Given the description of an element on the screen output the (x, y) to click on. 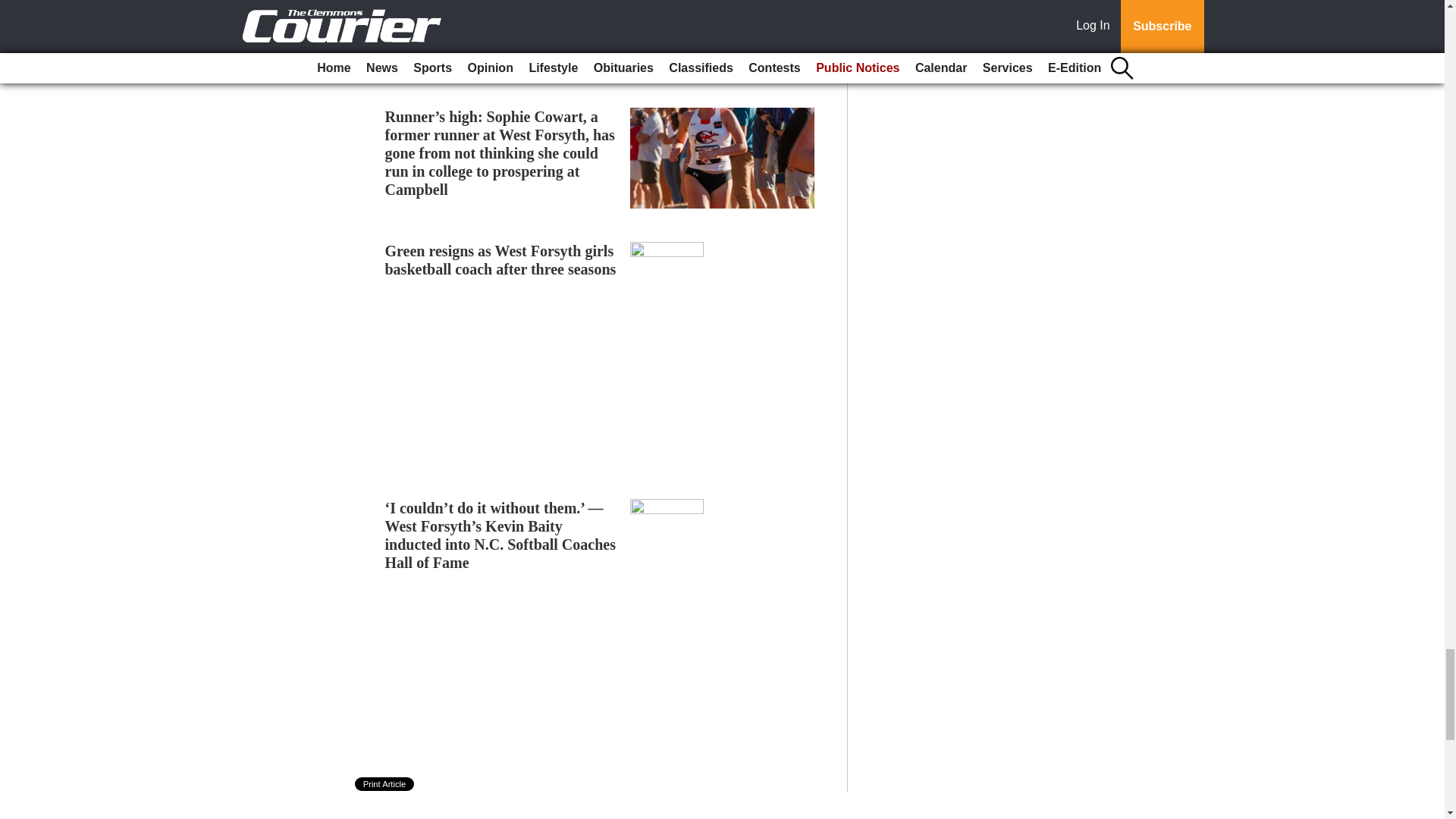
Print Article (384, 784)
